Given the description of an element on the screen output the (x, y) to click on. 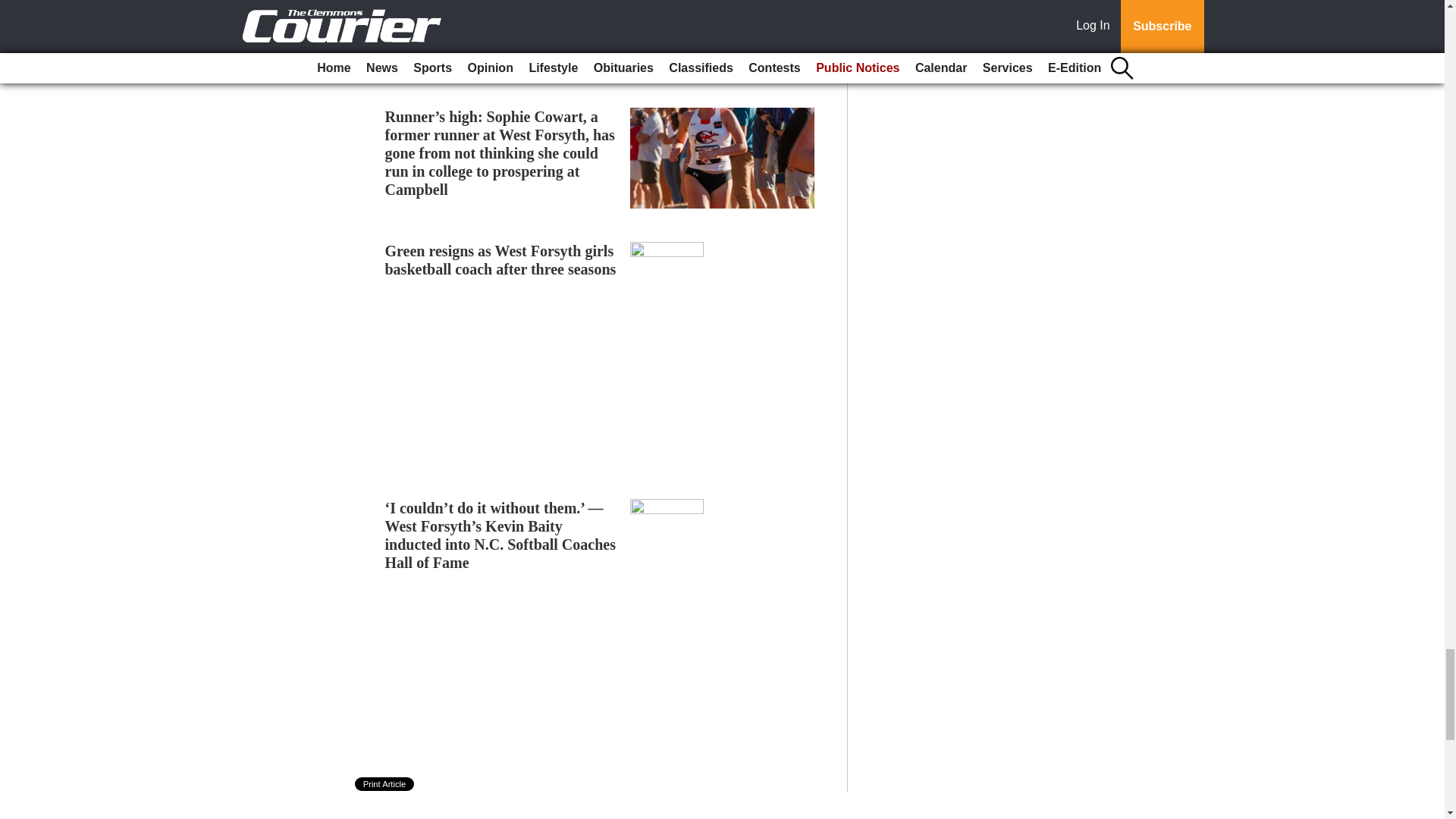
Print Article (384, 784)
